Given the description of an element on the screen output the (x, y) to click on. 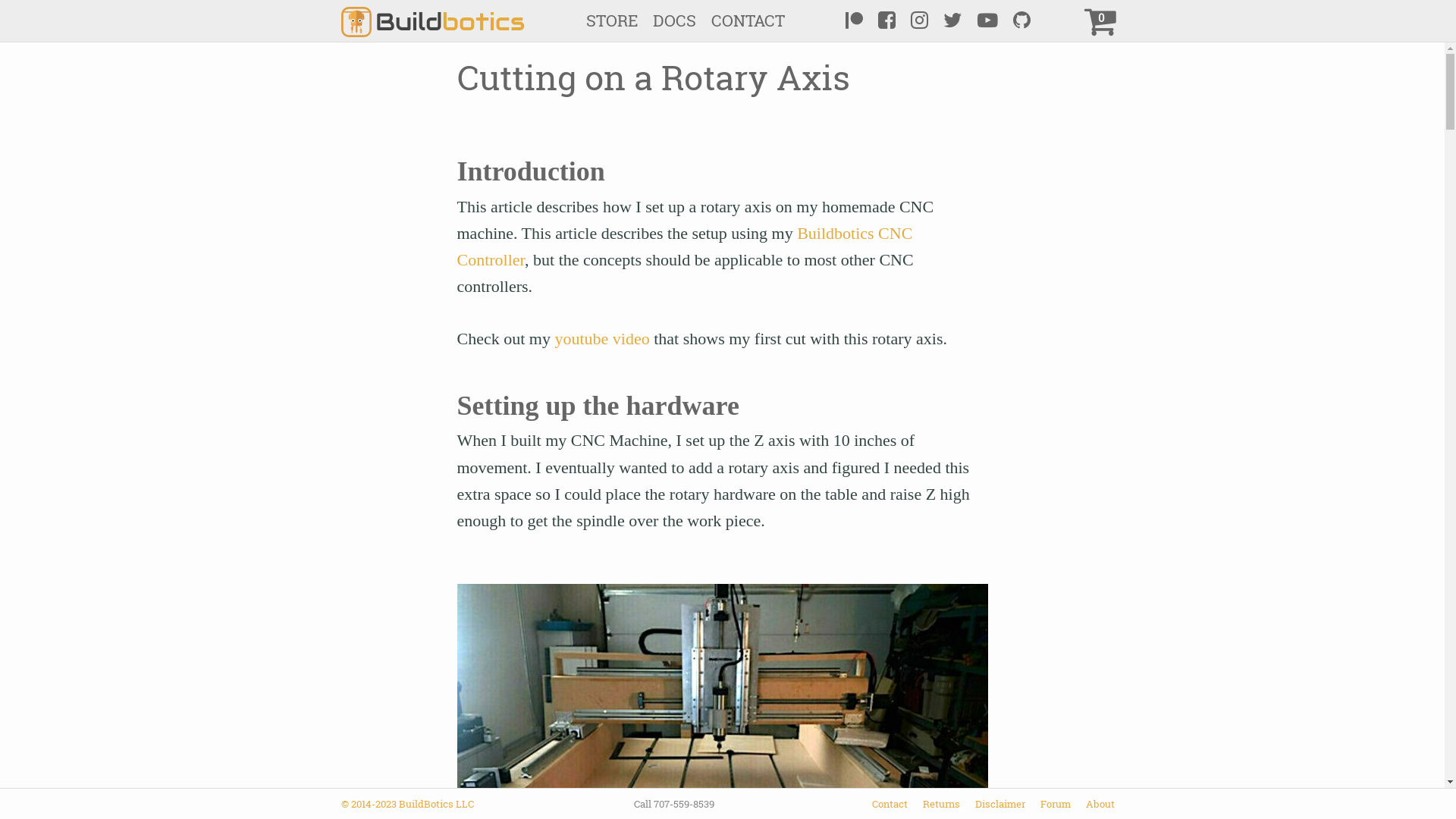
Go to store (1103, 21)
CONTACT (747, 20)
youtube video (601, 338)
Visit our Twitter page. (952, 20)
0 (1103, 21)
Visit our Youtube channel. (986, 20)
STORE (611, 20)
DOCS (673, 20)
Buildbotics CNC Controller (684, 246)
Buildbotics (432, 20)
